Given the description of an element on the screen output the (x, y) to click on. 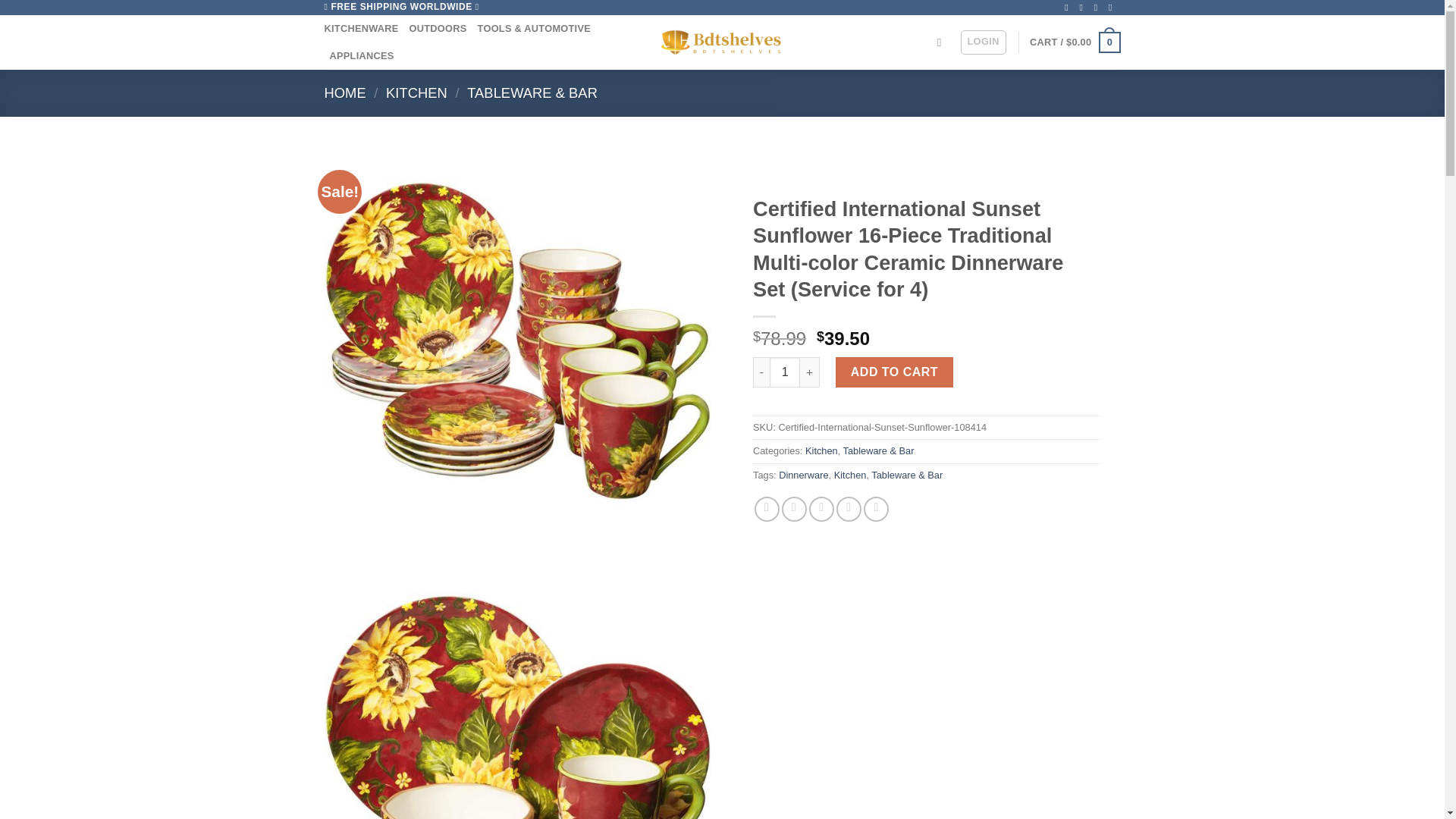
Kitchen (821, 450)
Dinnerware (803, 474)
Cart (1074, 42)
APPLIANCES (361, 55)
Kitchen (850, 474)
575891-nw3rlwnaw1i-2.jpg (517, 685)
BDTSHELVES (722, 41)
LOGIN (983, 42)
KITCHENWARE (361, 28)
KITCHEN (415, 92)
